Given the description of an element on the screen output the (x, y) to click on. 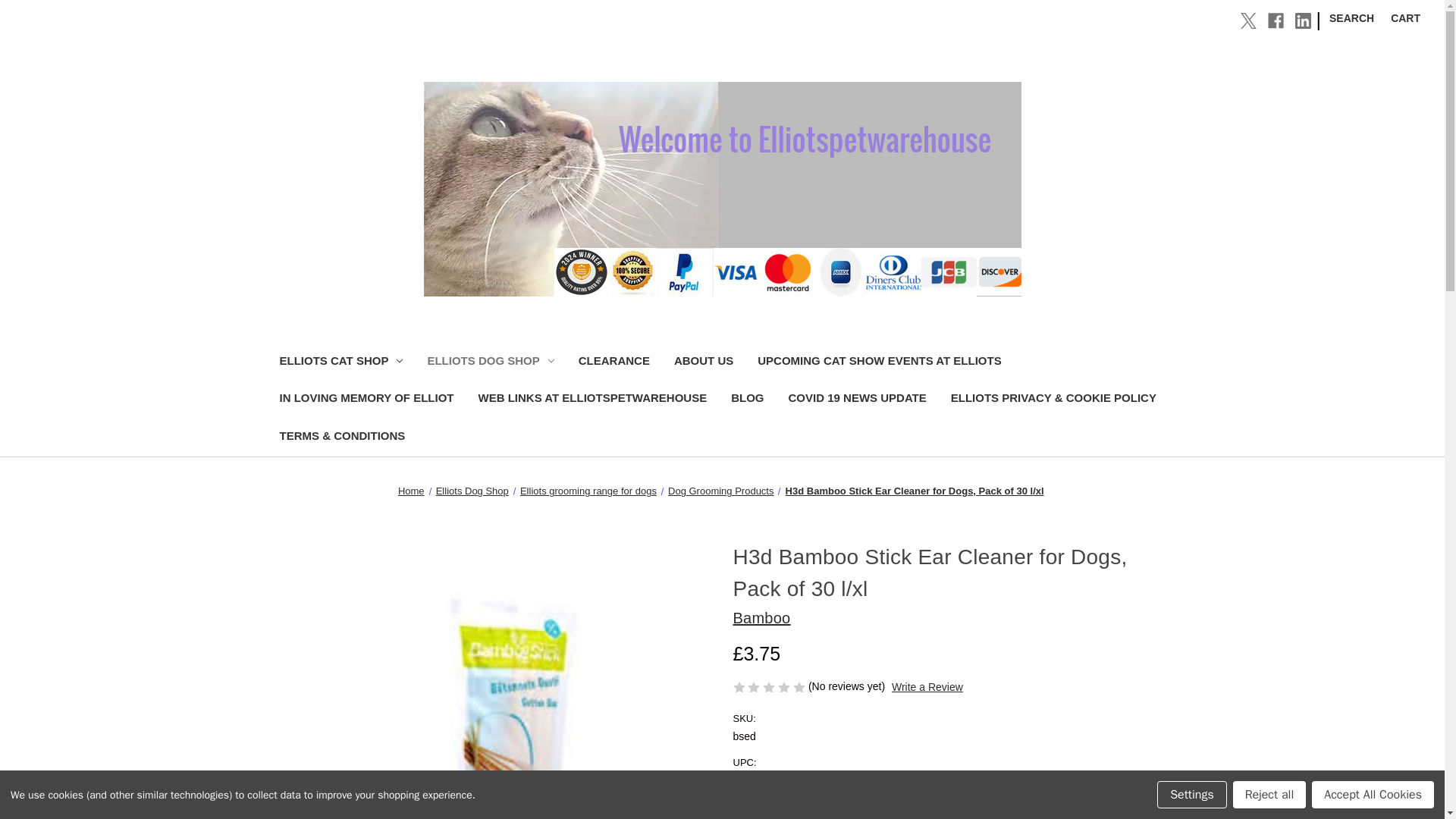
Linkedin (1303, 20)
X (1248, 20)
SEARCH (1350, 18)
Facebook (1276, 20)
Elliotspetwarehouse (721, 188)
CART (1404, 18)
ELLIOTS CAT SHOP (340, 362)
